Given the description of an element on the screen output the (x, y) to click on. 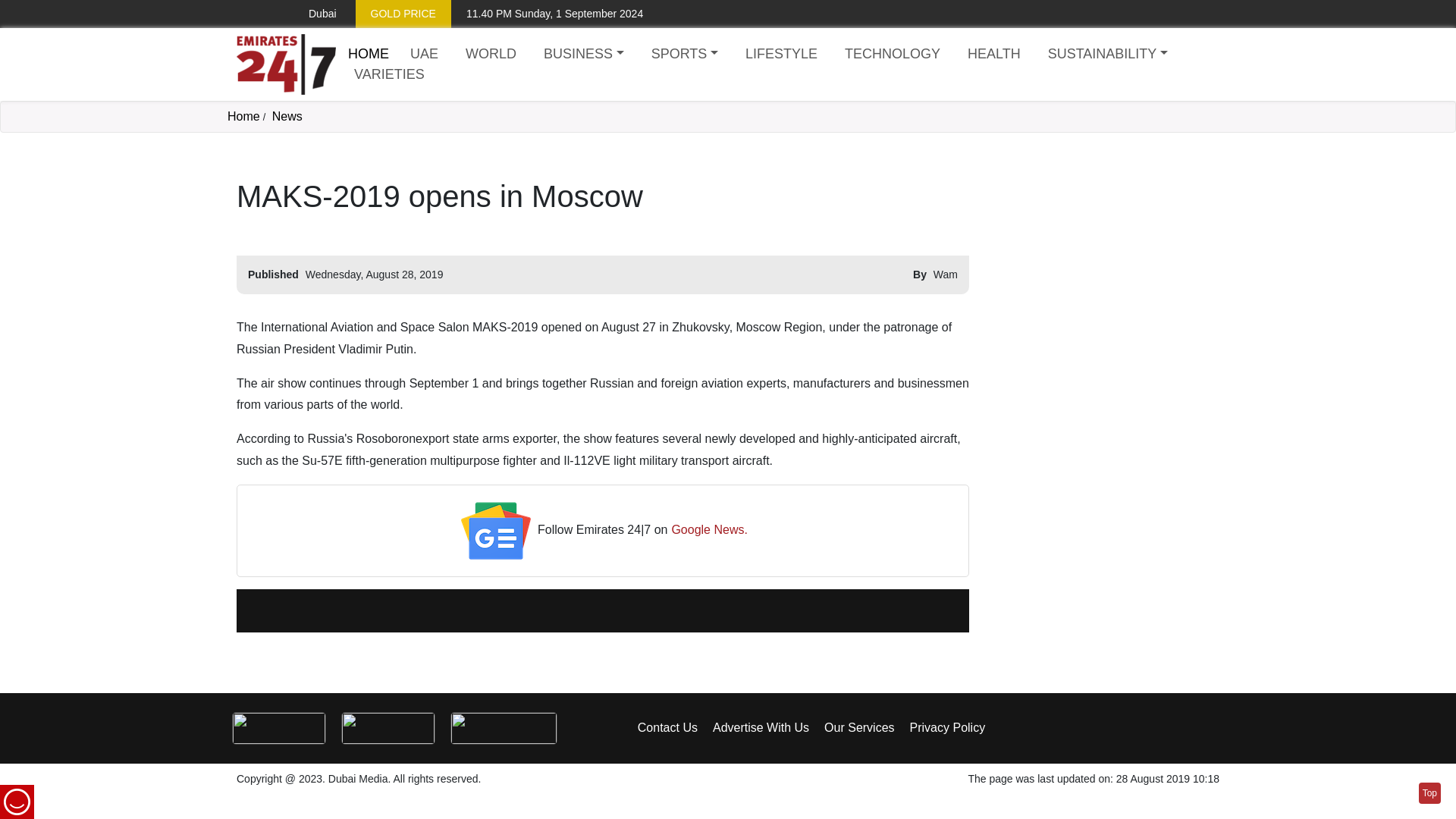
GOLD PRICE (403, 13)
SUSTAINABILITY (1107, 54)
News (287, 115)
SPORTS (684, 54)
WORLD (491, 54)
BUSINESS (583, 54)
Home (367, 53)
LIFESTYLE (781, 54)
UAE (424, 54)
TECHNOLOGY (892, 54)
